Given the description of an element on the screen output the (x, y) to click on. 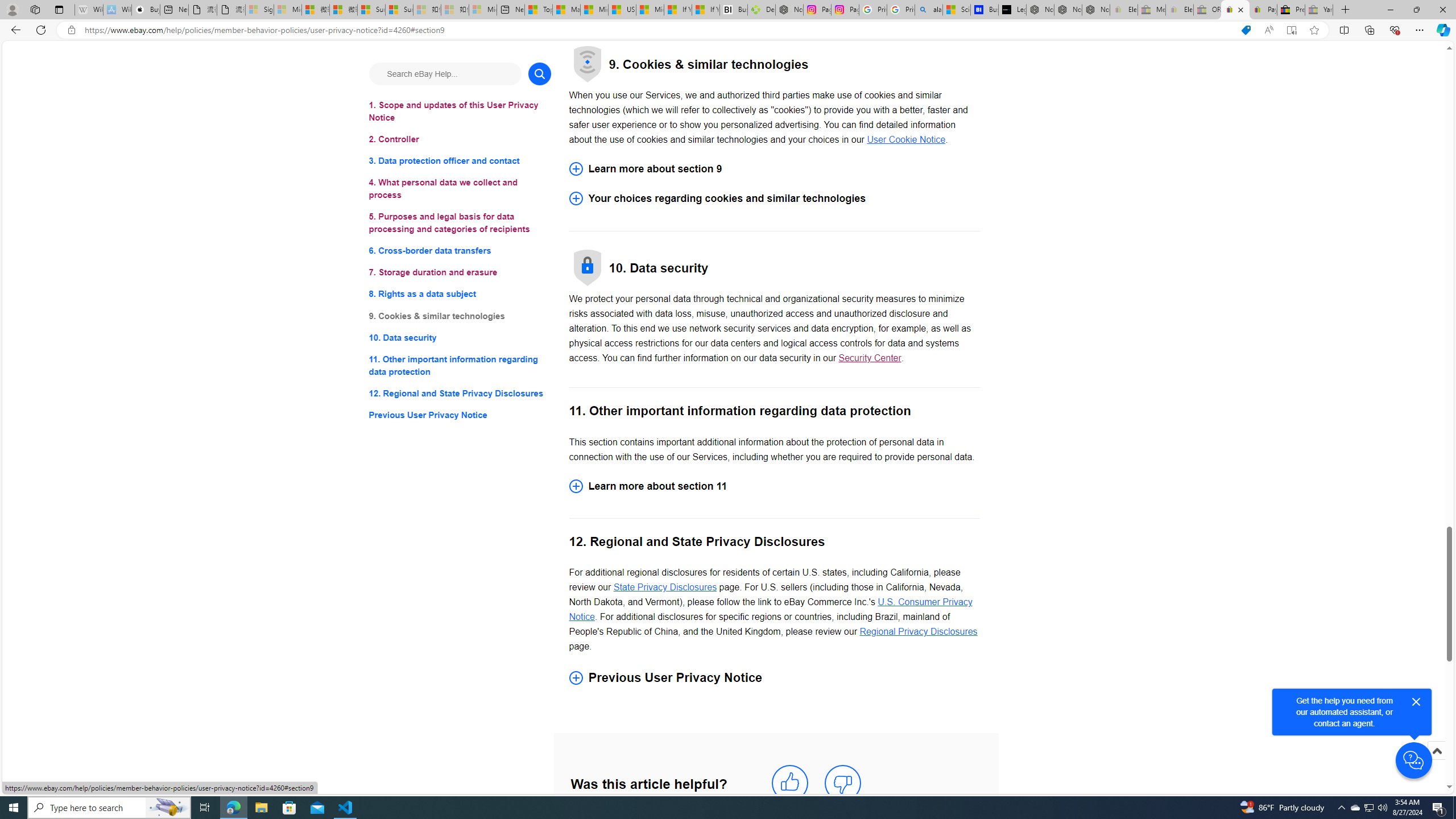
10. Data security (459, 336)
7. Storage duration and erasure (459, 272)
11. Other important information regarding data protection (459, 365)
Marine life - MSN (566, 9)
State Privacy Disclosures - opens in new window or tab (664, 587)
1. Scope and updates of this User Privacy Notice (459, 111)
Scroll to top (1435, 762)
mark this article helpful (789, 782)
